Given the description of an element on the screen output the (x, y) to click on. 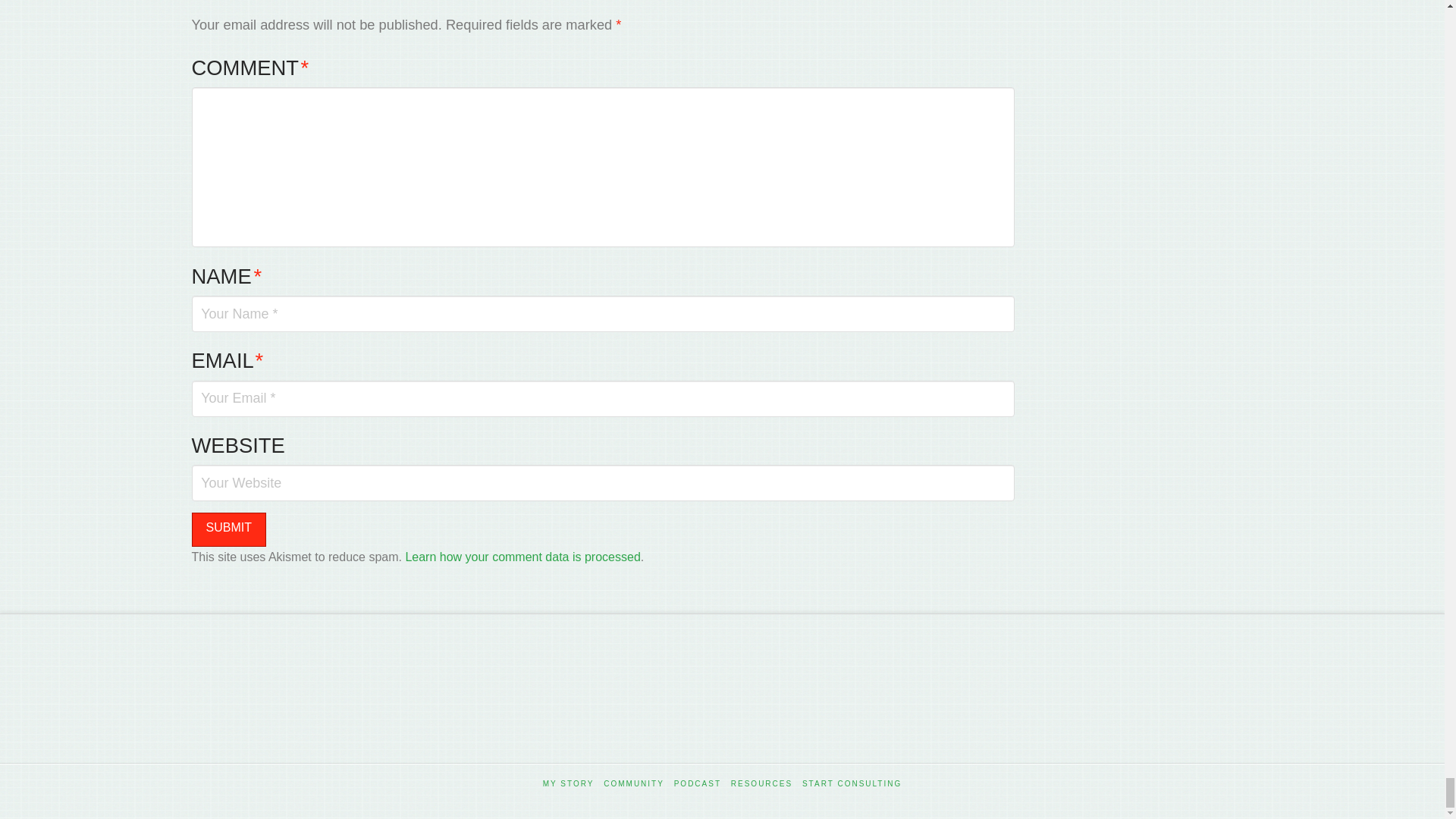
Submit (227, 529)
PODCAST (697, 783)
RESOURCES (761, 783)
COMMUNITY (633, 783)
Submit (227, 529)
START CONSULTING (851, 783)
MY STORY (568, 783)
Learn how your comment data is processed (522, 556)
